Given the description of an element on the screen output the (x, y) to click on. 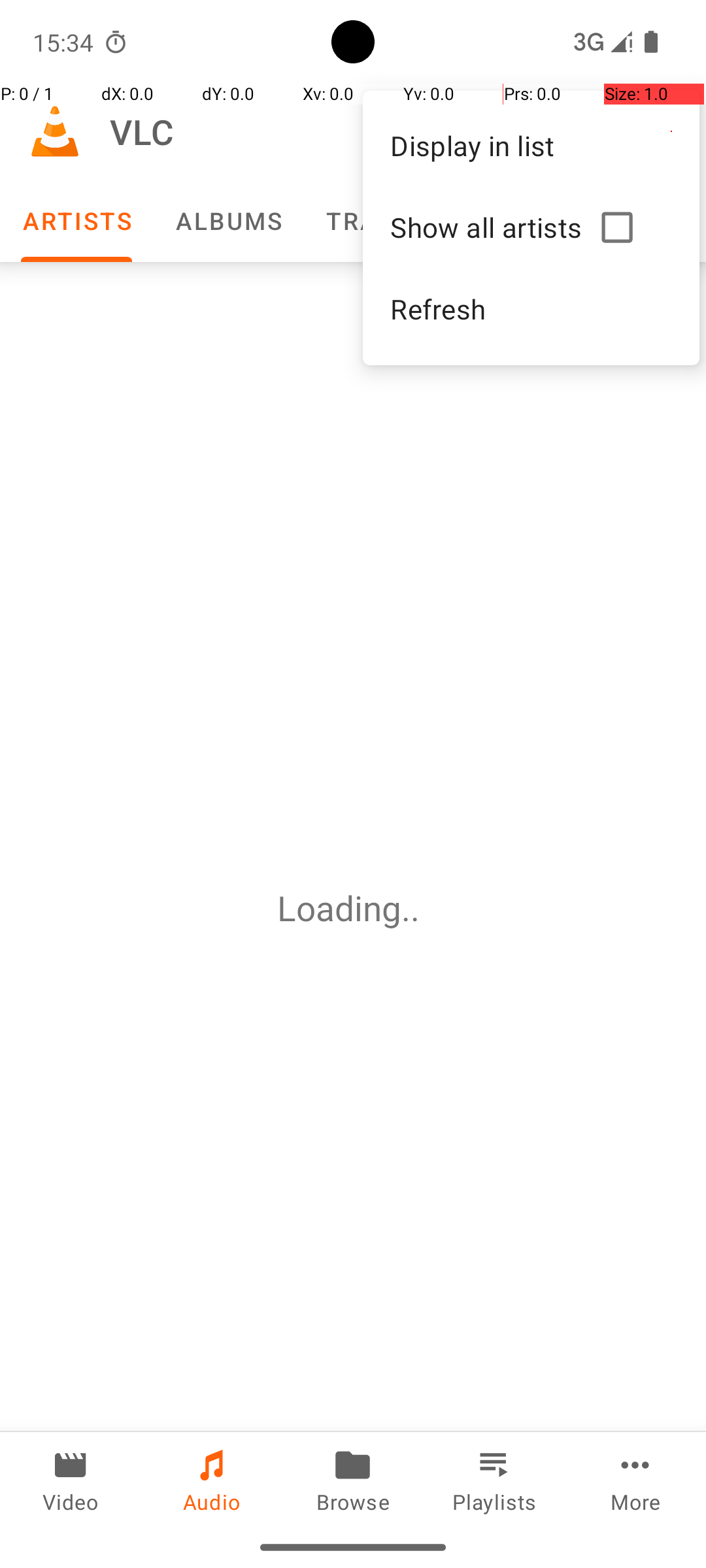
Show all artists Element type: android.widget.TextView (489, 226)
